Given the description of an element on the screen output the (x, y) to click on. 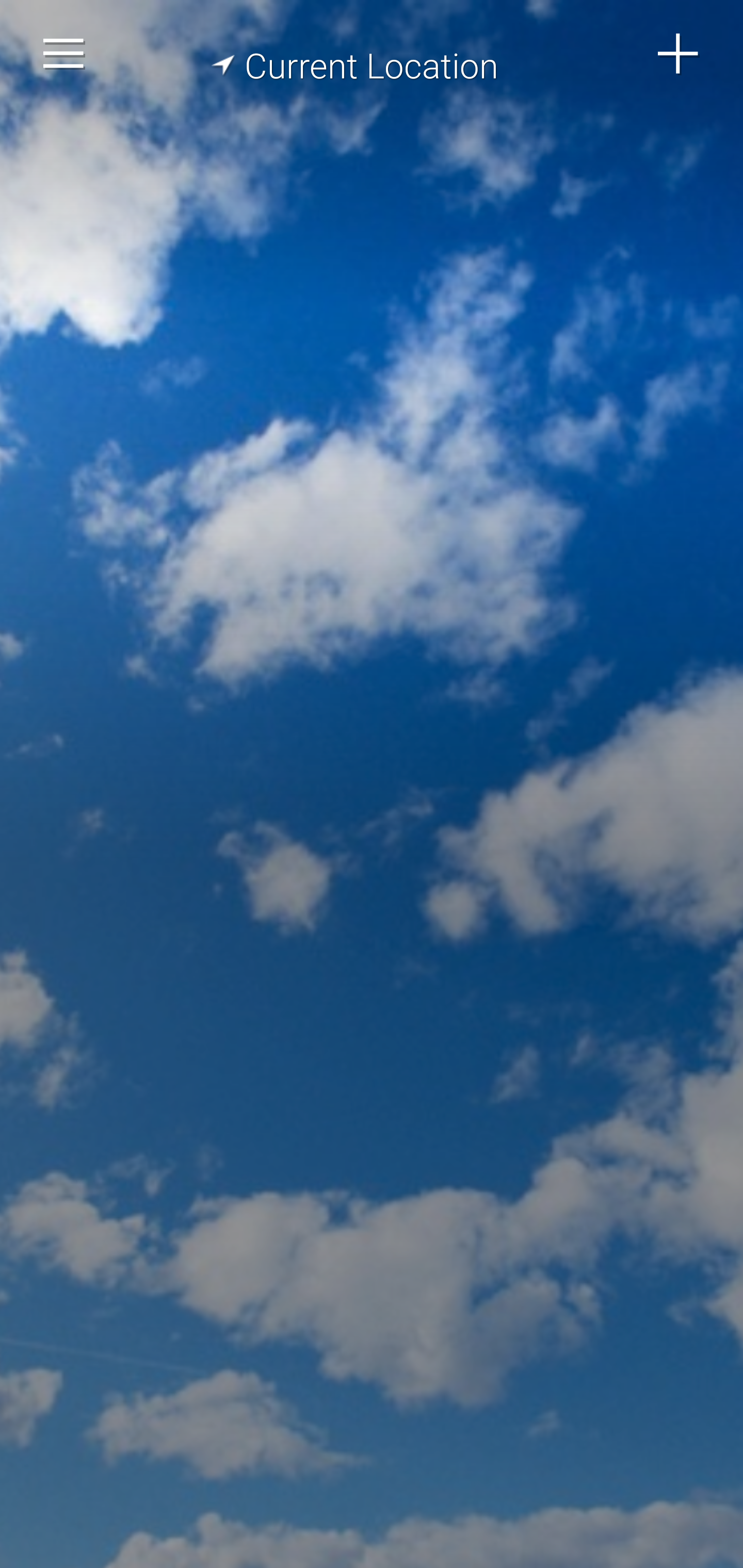
Sidebar (64, 54)
Add City (678, 53)
